Given the description of an element on the screen output the (x, y) to click on. 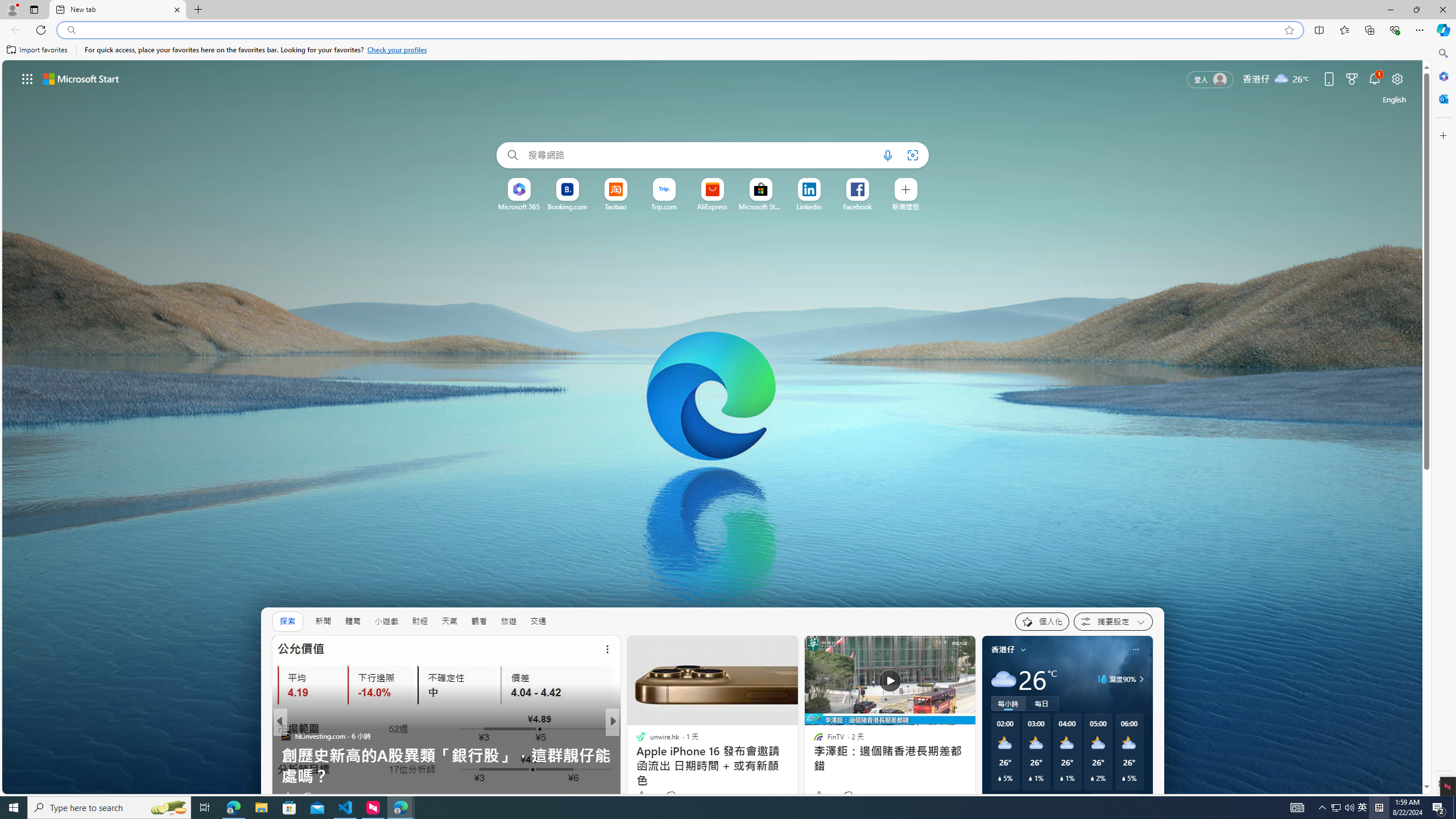
Outlook (1442, 98)
Import favorites (36, 49)
Taobao (615, 206)
